Given the description of an element on the screen output the (x, y) to click on. 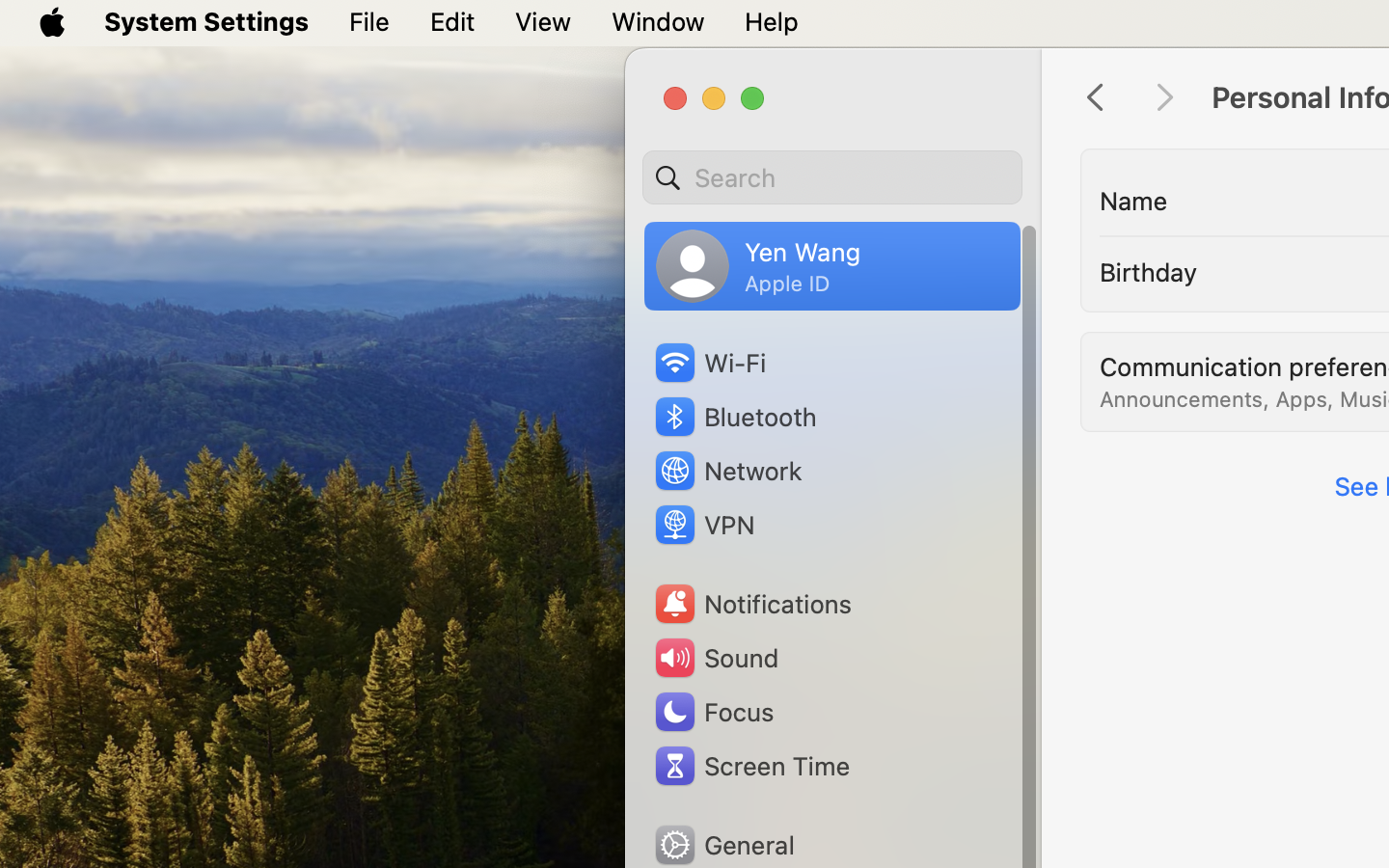
Sound Element type: AXStaticText (715, 657)
Network Element type: AXStaticText (727, 470)
VPN Element type: AXStaticText (703, 524)
General Element type: AXStaticText (723, 844)
Bluetooth Element type: AXStaticText (734, 416)
